Given the description of an element on the screen output the (x, y) to click on. 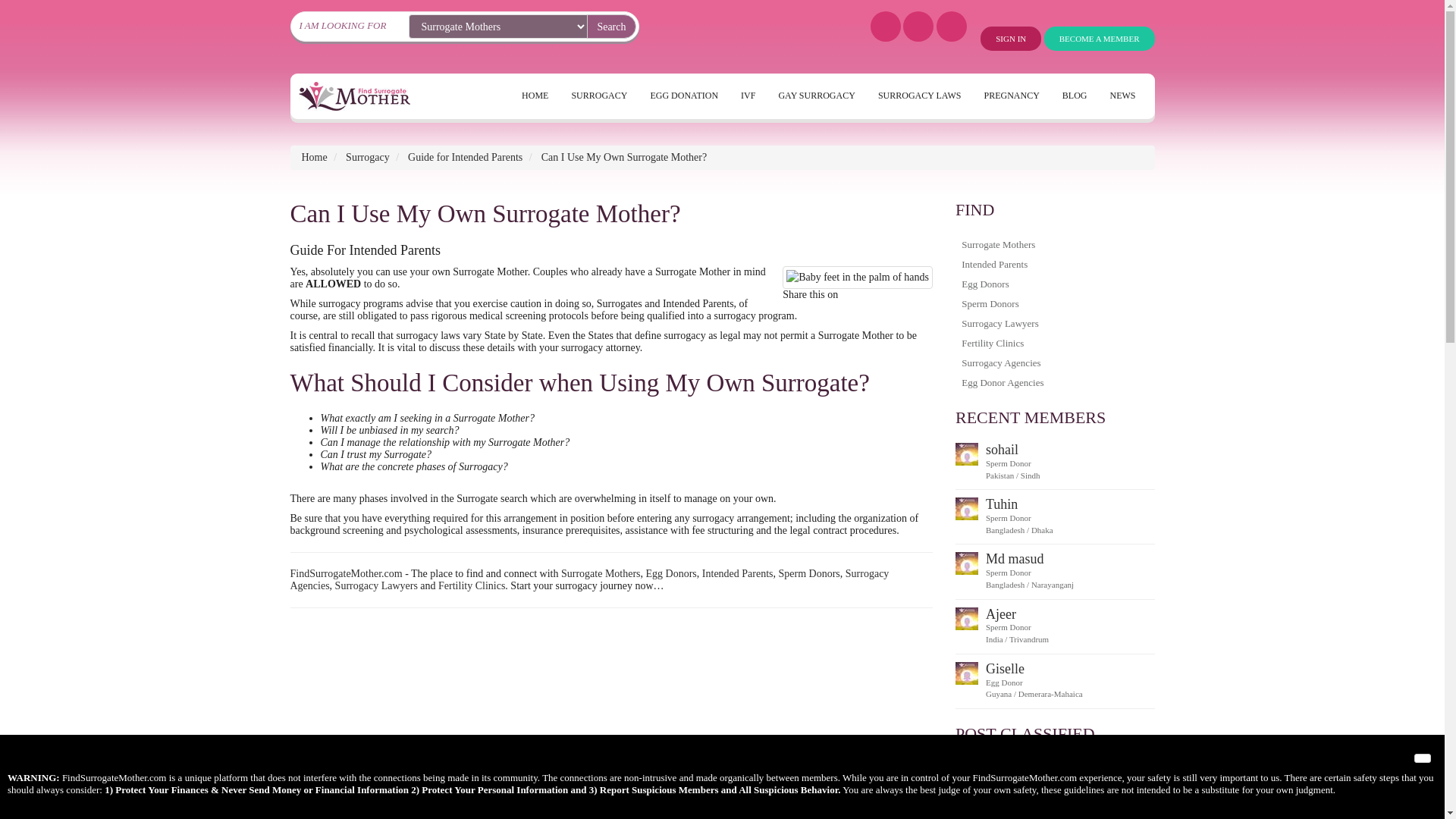
Search (610, 26)
BECOME A MEMBER (1098, 38)
FindSurrogateMother.com HOME (345, 573)
Find Surrogacy Lawyers (375, 585)
Find Surrogacy Agencies (588, 579)
SIGN IN (1010, 38)
Find Surrogate Mothers (600, 573)
Find Sperm Donors (809, 573)
HOME (535, 97)
Find Intended Parents (737, 573)
